Given the description of an element on the screen output the (x, y) to click on. 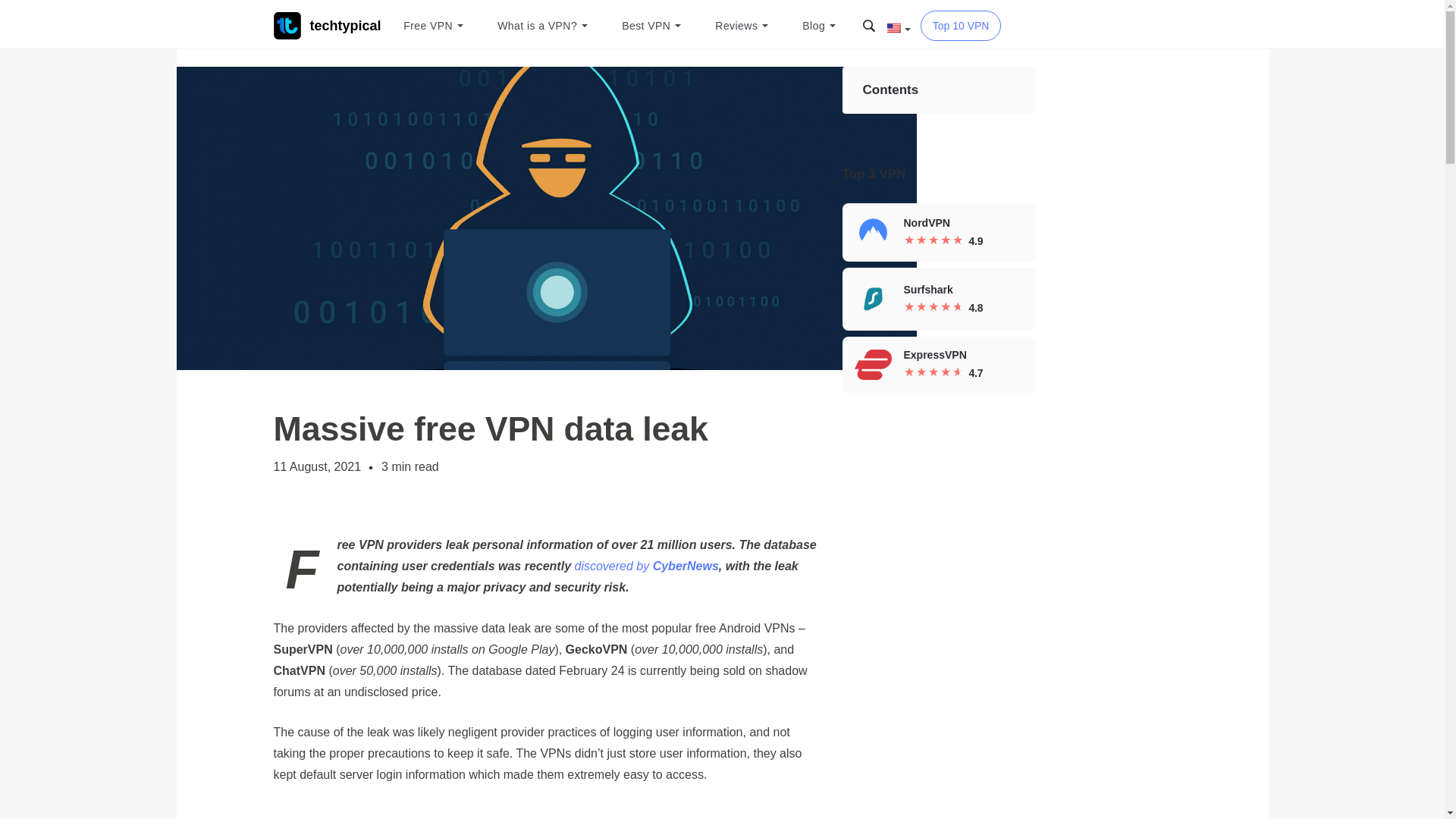
Reviews (739, 25)
Best VPN (649, 25)
techtypical (326, 25)
Free VPN (431, 25)
What is a VPN? (541, 25)
Top 10 VPN (960, 25)
